Given the description of an element on the screen output the (x, y) to click on. 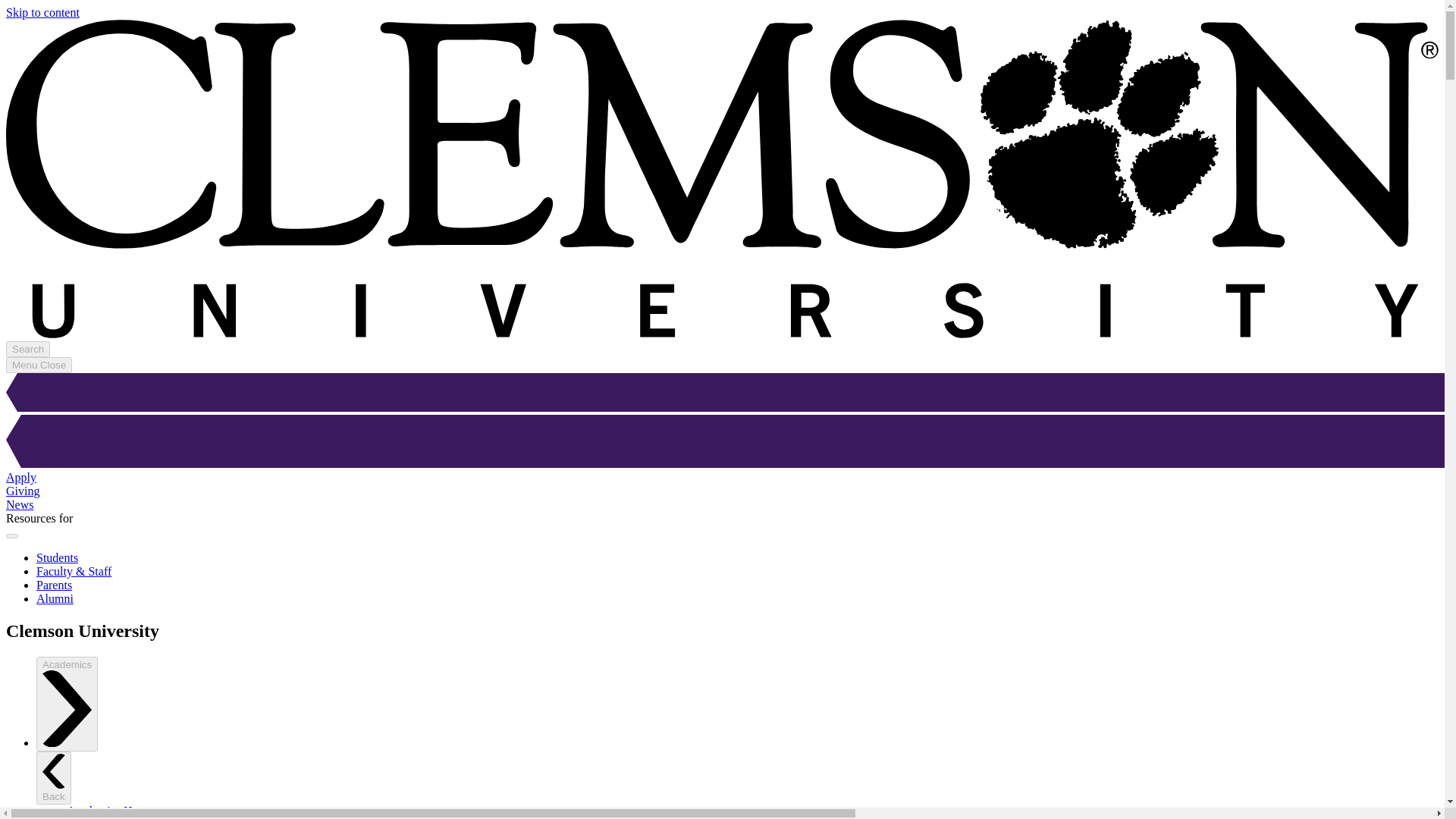
Parents (53, 584)
Menu Close (38, 365)
Alumni (55, 598)
Sorry, your browser does not support inline SVG. (721, 442)
Skip to content (42, 11)
Search (27, 349)
Students (57, 557)
